Given the description of an element on the screen output the (x, y) to click on. 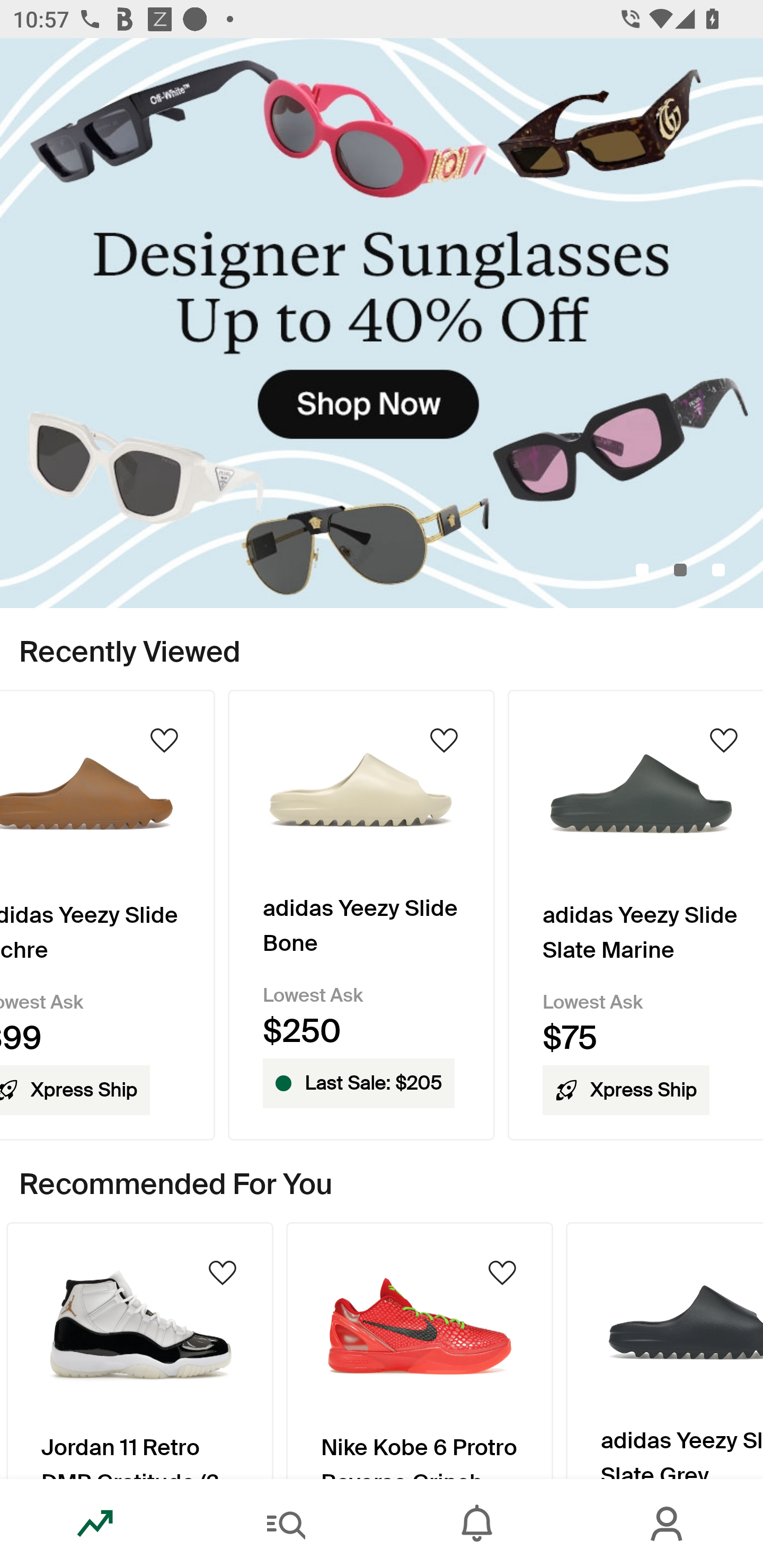
DesignerSunglassesUpto40_Off_Primary_Mobile.jpg (381, 322)
Product Image Jordan 11 Retro DMP Gratitude (2023) (139, 1349)
Product Image Nike Kobe 6 Protro Reverse Grinch (419, 1349)
Product Image adidas Yeezy Slide Slate Grey (664, 1349)
Search (285, 1523)
Inbox (476, 1523)
Account (667, 1523)
